Given the description of an element on the screen output the (x, y) to click on. 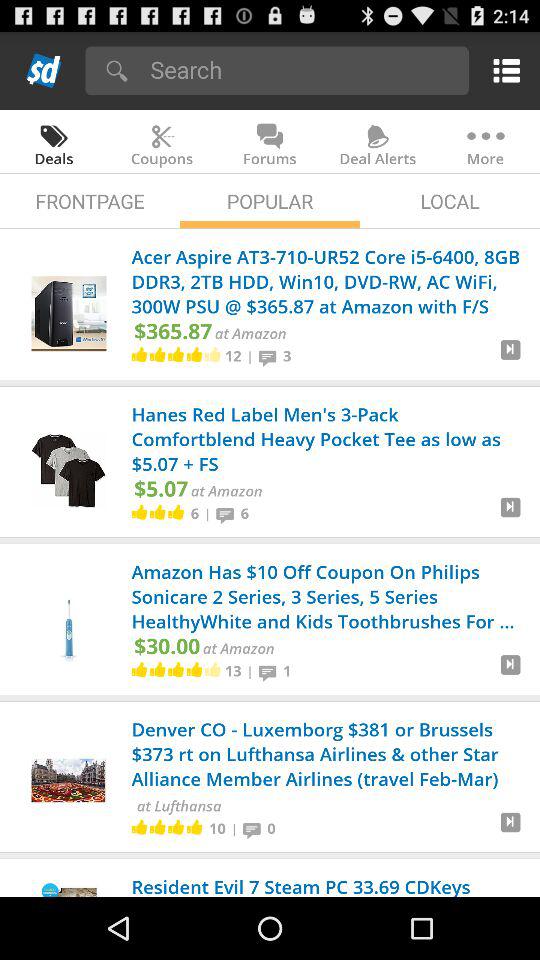
navigate to website (510, 672)
